Given the description of an element on the screen output the (x, y) to click on. 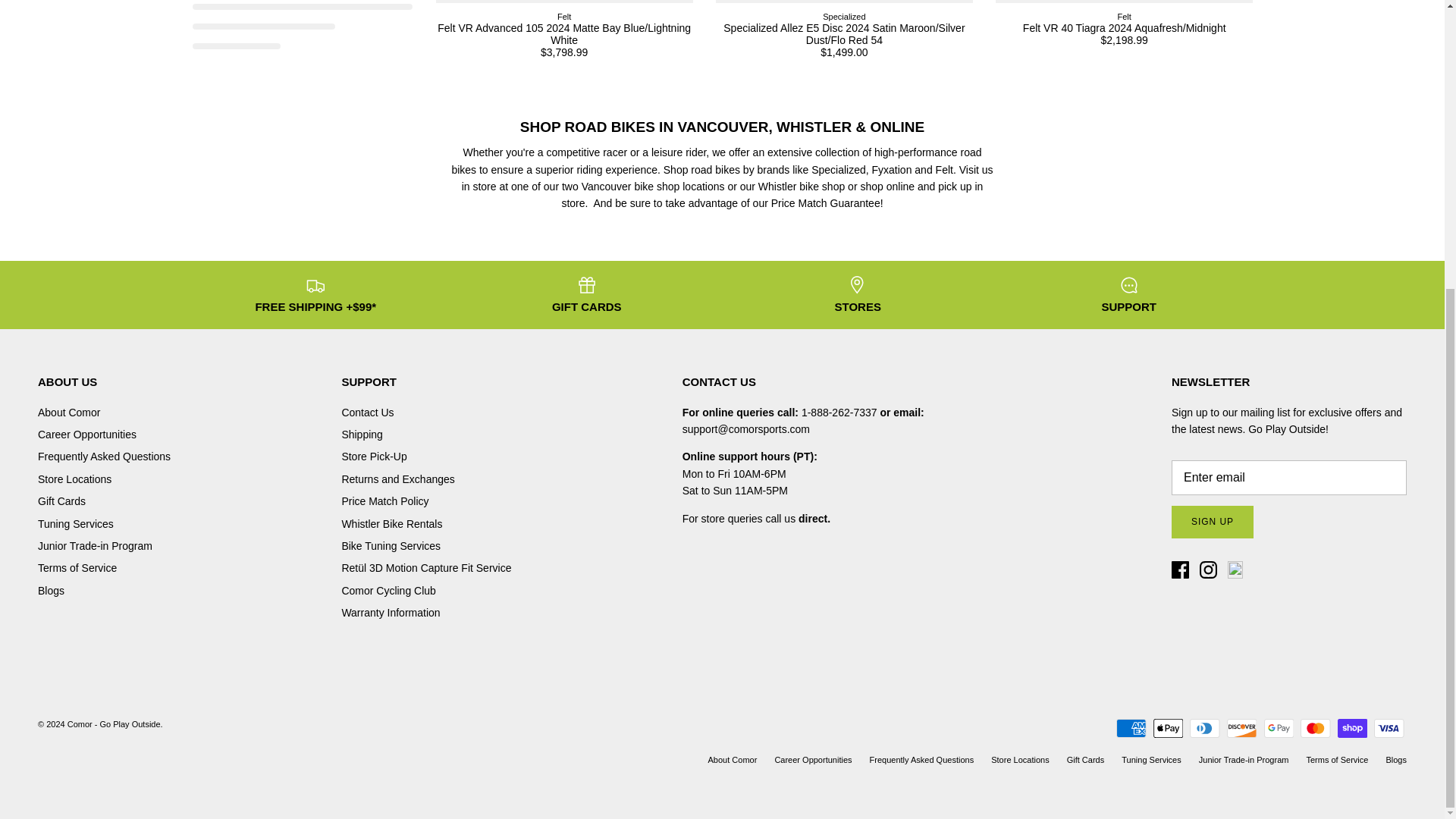
Visa (1388, 728)
American Express (1130, 728)
Google Pay (1277, 728)
Facebook (1180, 569)
Shop Fyxation Road Bikes (893, 169)
Instagram (1208, 569)
Shop Felt Road Bikes (944, 169)
Apple Pay (1168, 728)
Diners Club (1204, 728)
Shop Pay (1352, 728)
